Given the description of an element on the screen output the (x, y) to click on. 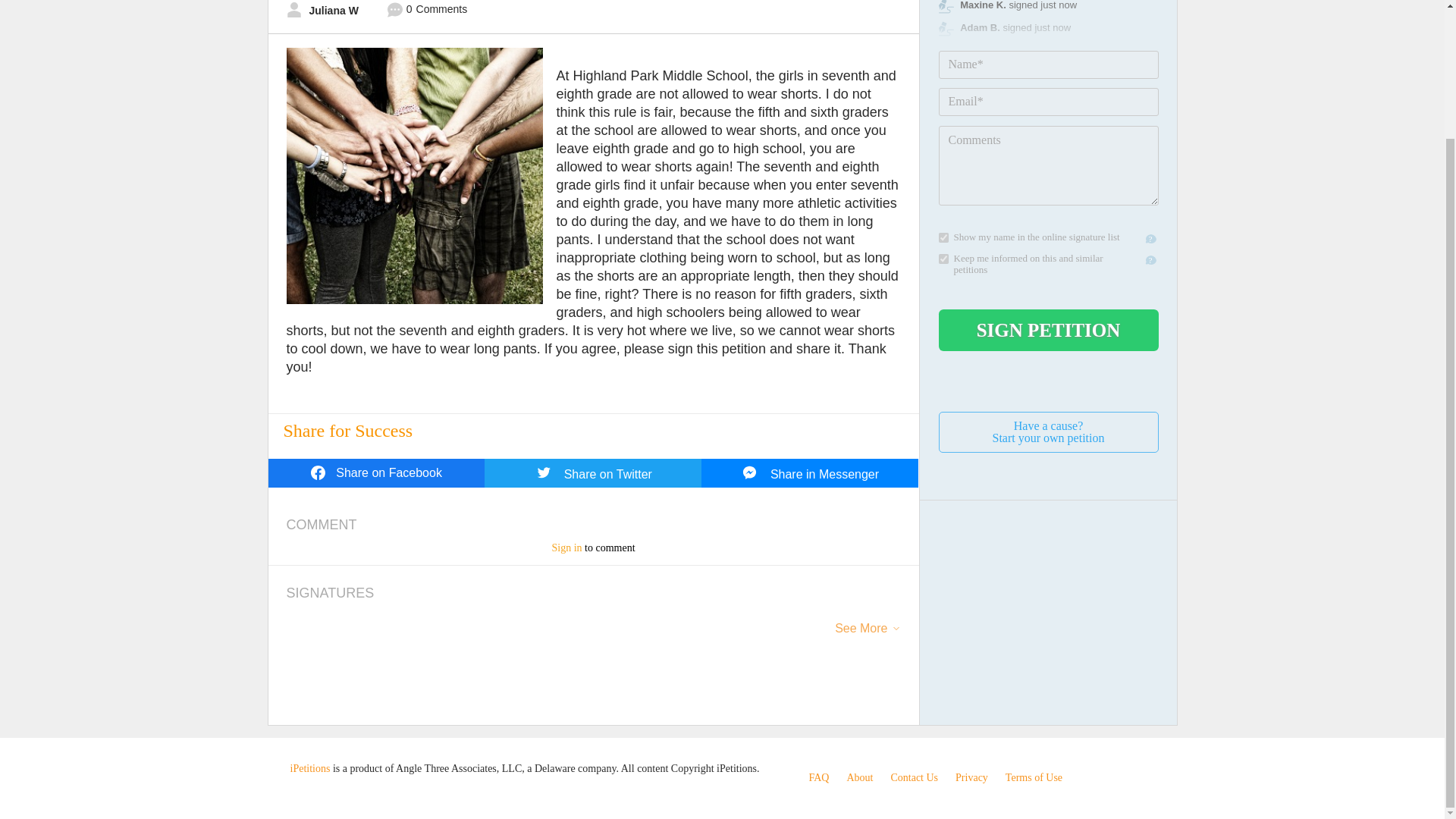
FAQ (818, 777)
Sign in (565, 547)
1 (944, 237)
SIGN PETITION (1048, 330)
Share in Messenger (809, 472)
Contact Us (1048, 431)
Terms of Use (913, 777)
0 Comments (1034, 777)
Frequently Asked Question (427, 11)
Share on Twitter (818, 777)
See More (592, 472)
Privacy (859, 634)
About (971, 777)
iPetitions (858, 777)
